Given the description of an element on the screen output the (x, y) to click on. 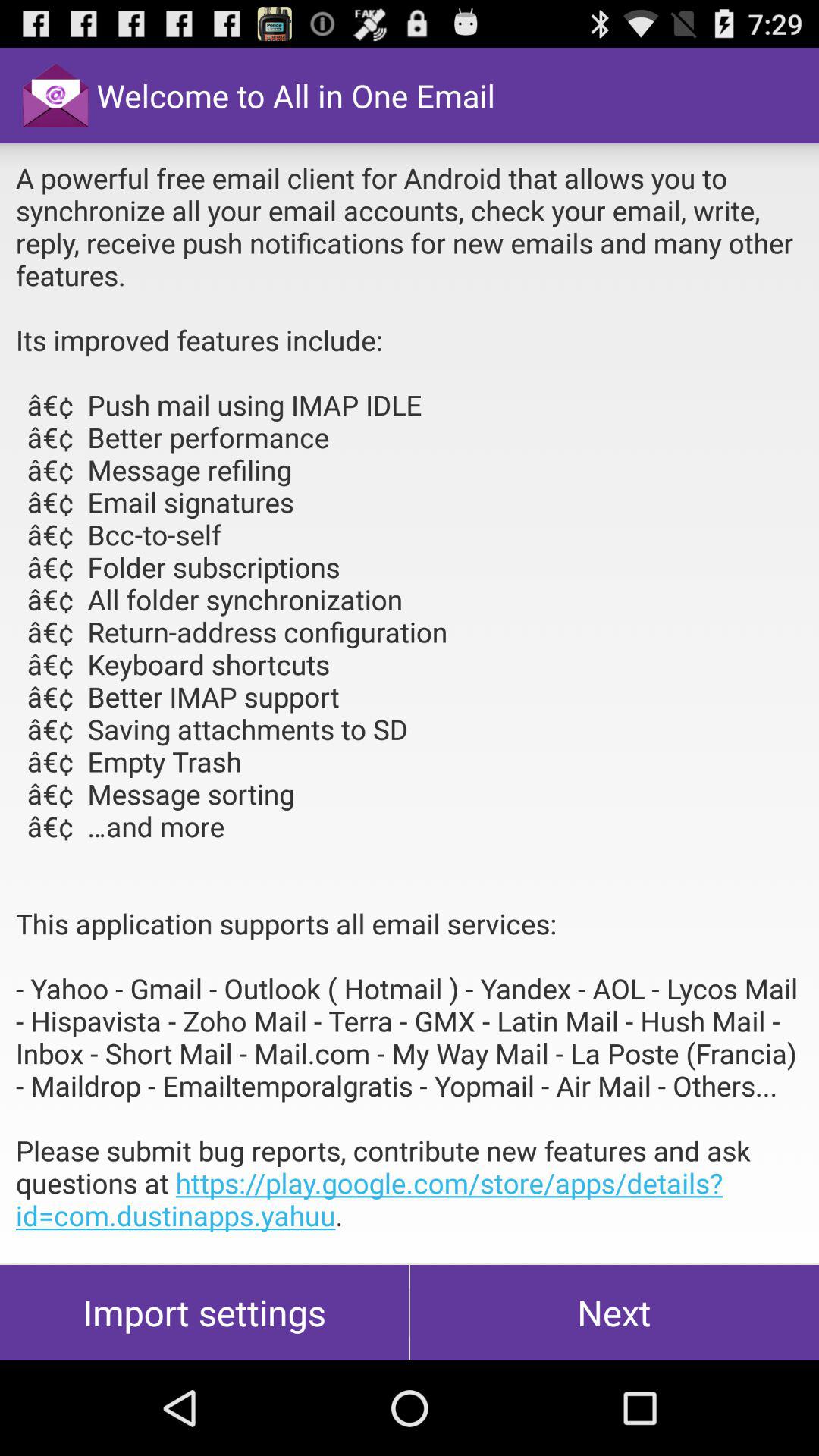
flip to import settings icon (204, 1312)
